Given the description of an element on the screen output the (x, y) to click on. 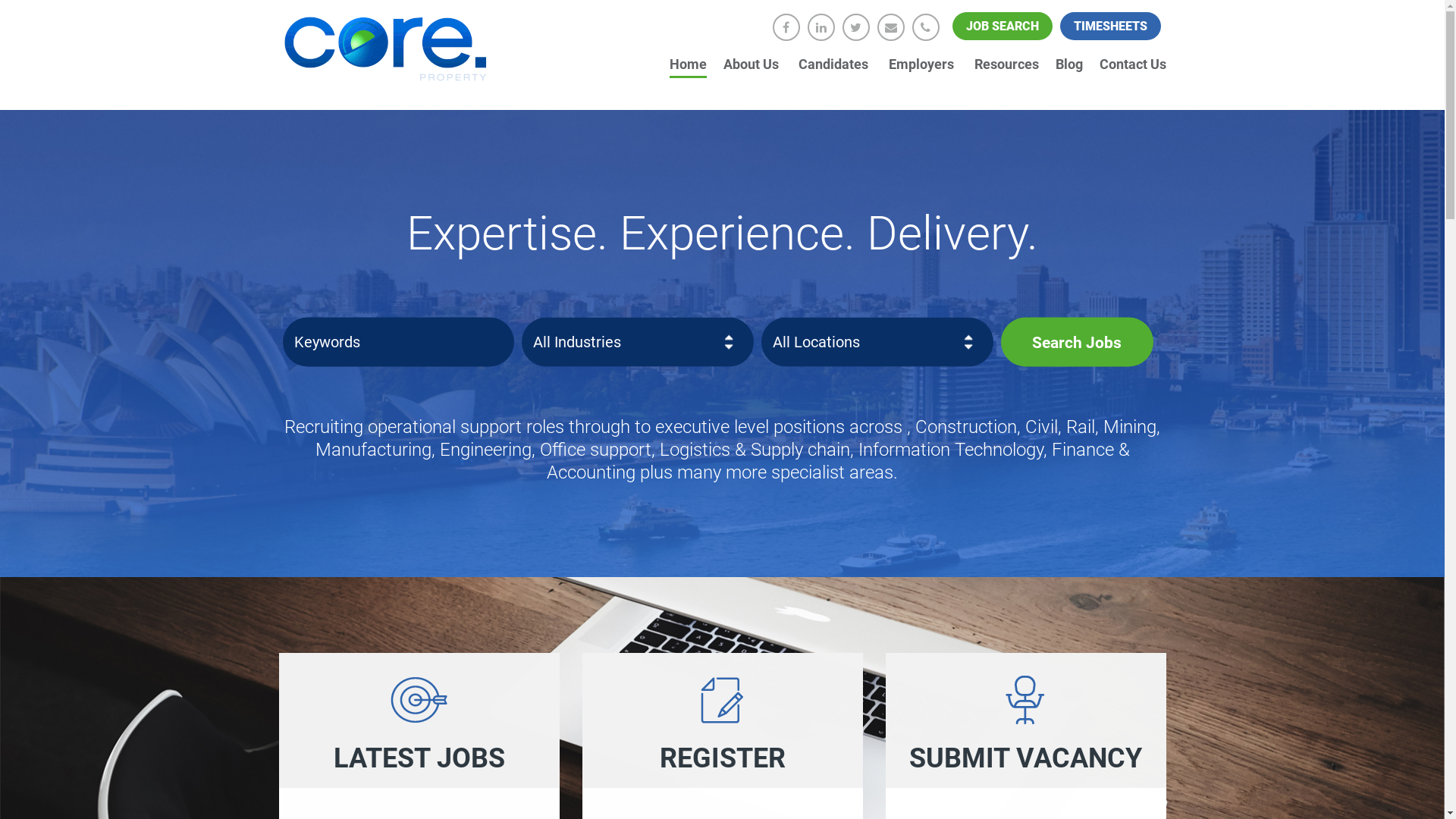
Contact Us Element type: text (1132, 64)
TIMESHEETS Element type: text (1110, 25)
Home Element type: text (687, 64)
Candidates Element type: text (835, 64)
Resources Element type: text (1005, 64)
Blog Element type: text (1068, 64)
About Us Element type: text (752, 64)
Employers Element type: text (922, 64)
Search Jobs Element type: text (1077, 341)
